Given the description of an element on the screen output the (x, y) to click on. 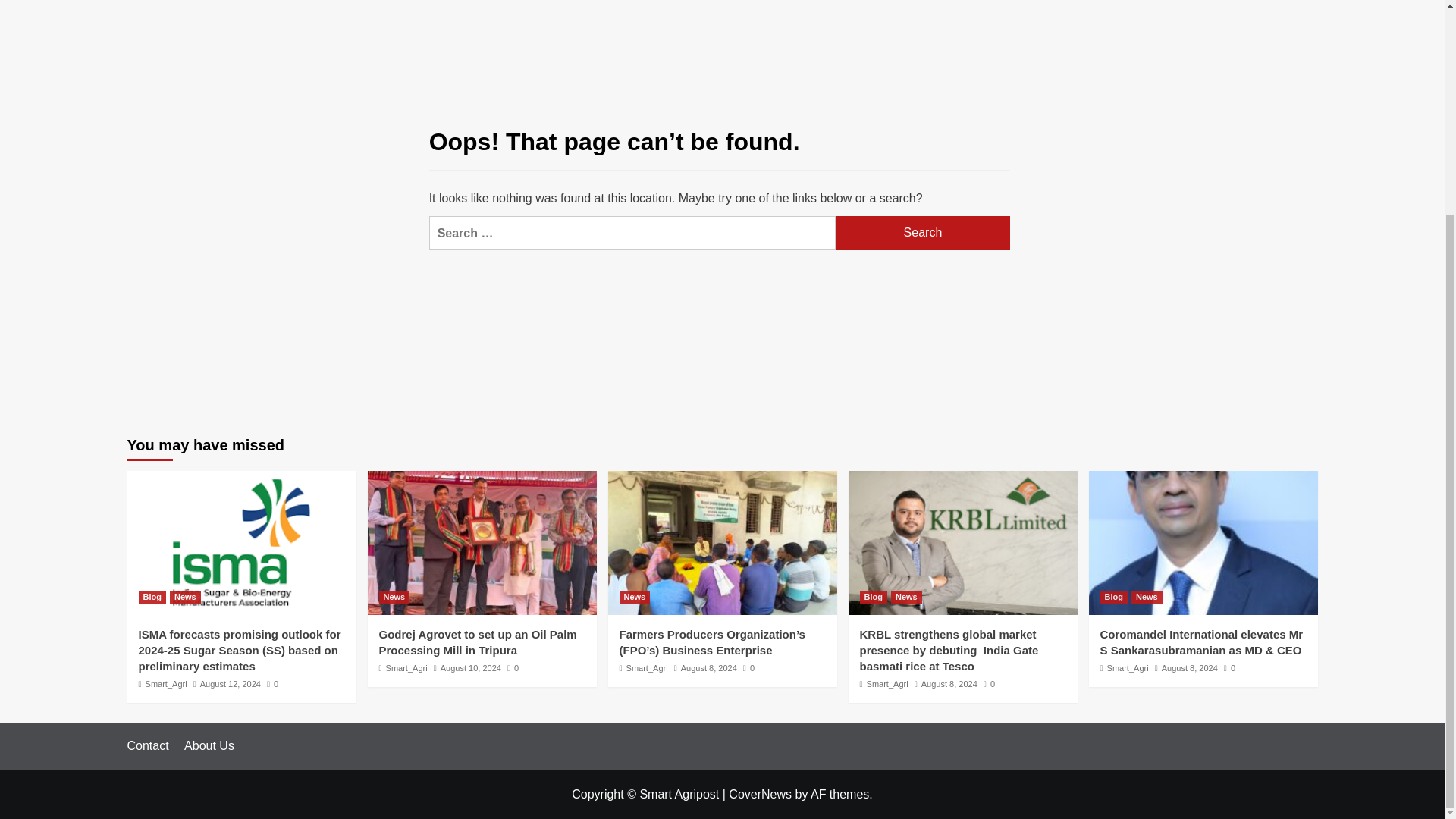
Search (922, 233)
News (633, 596)
August 10, 2024 (470, 667)
News (185, 596)
August 12, 2024 (230, 683)
News (394, 596)
0 (512, 667)
0 (272, 683)
Search (922, 233)
Blog (151, 596)
